Given the description of an element on the screen output the (x, y) to click on. 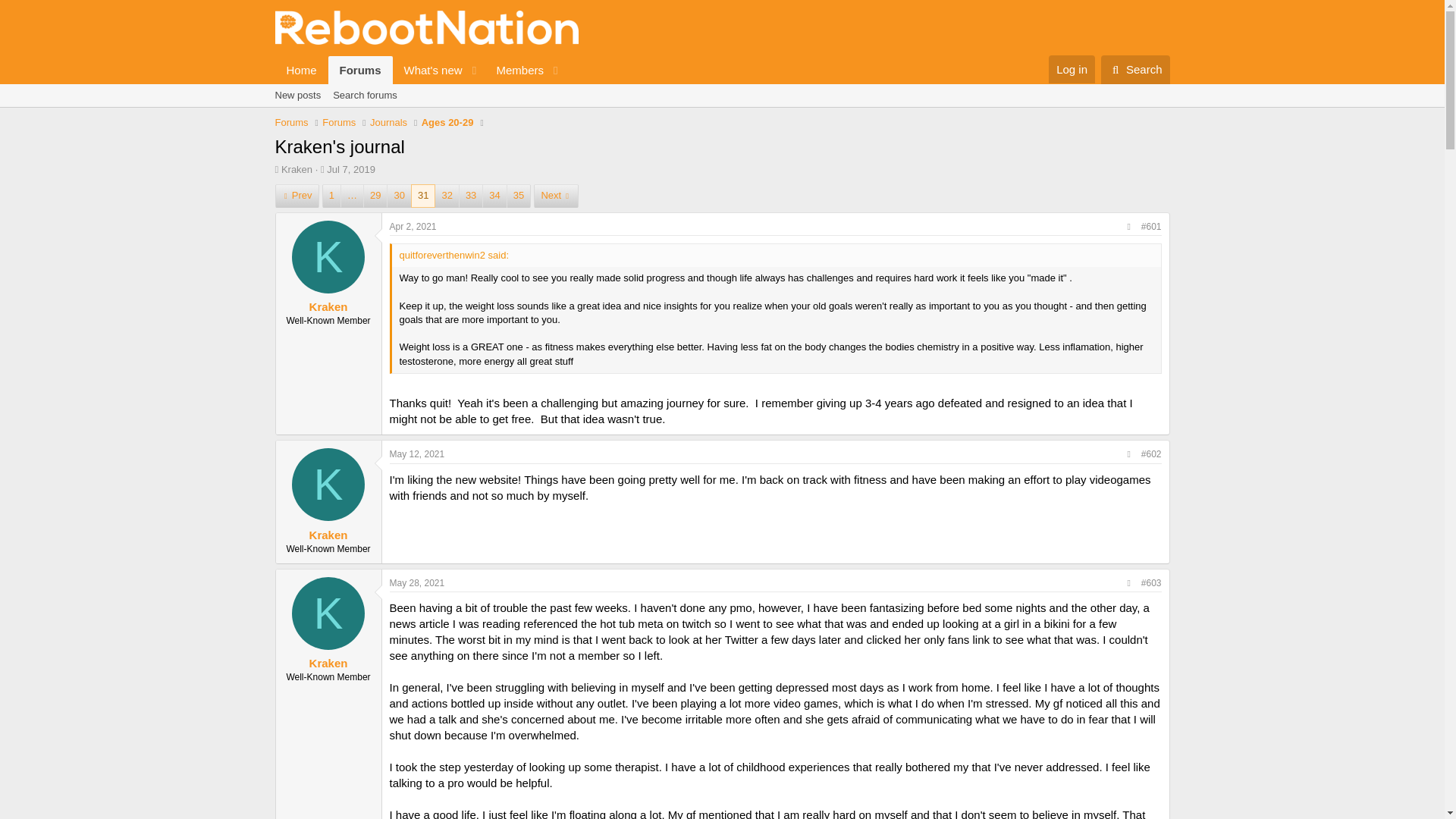
Log in (1071, 69)
Apr 2, 2021 at 1:10 AM (413, 226)
Search (1135, 69)
Prev (296, 195)
Jul 7, 2019 (350, 169)
Kraken (297, 169)
New posts (296, 95)
Members (514, 70)
Jul 7, 2019 at 3:38 AM (419, 70)
